Given the description of an element on the screen output the (x, y) to click on. 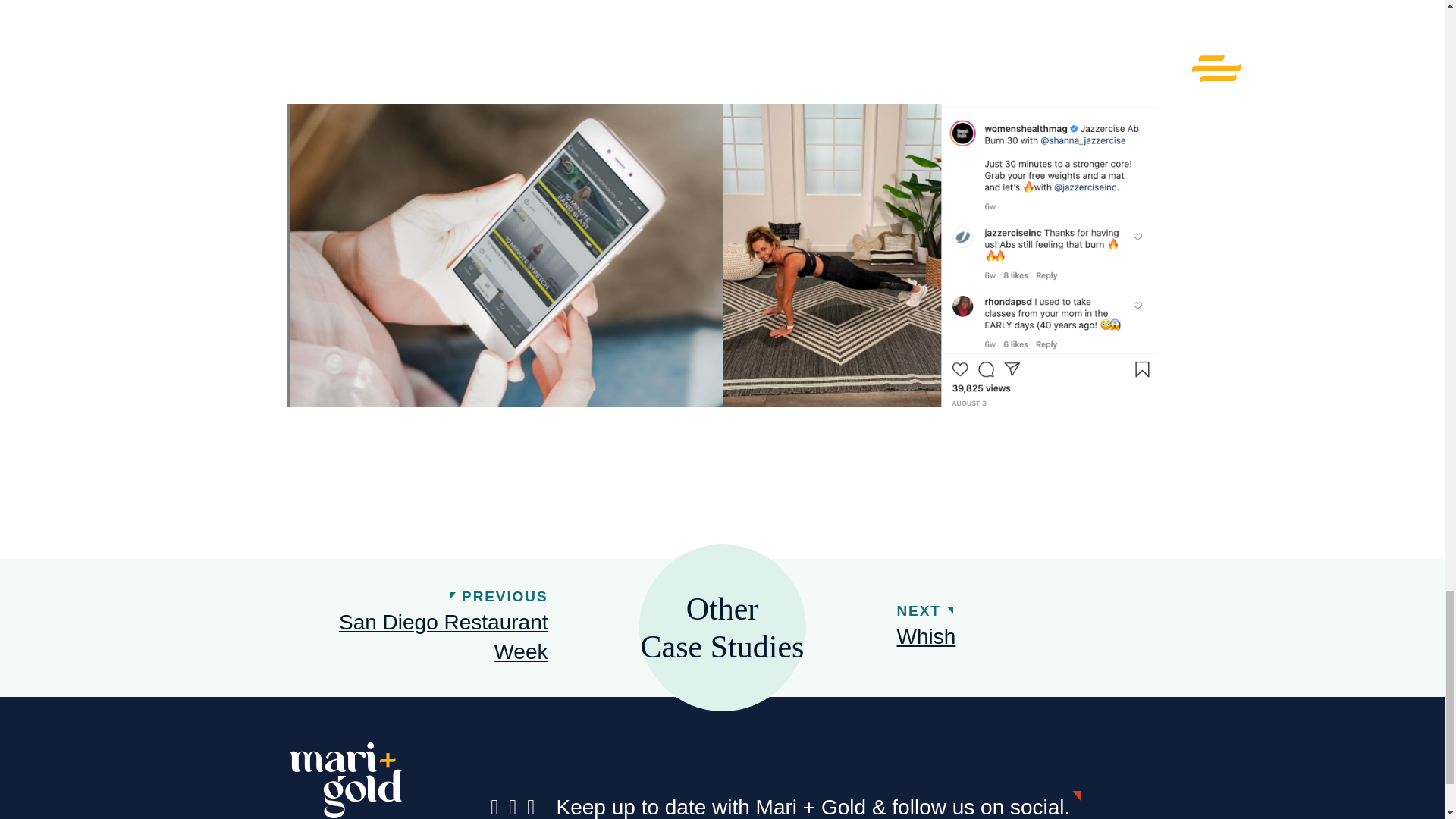
San Diego Restaurant Week (425, 636)
Mari and Gold (345, 779)
Whish (925, 636)
